Given the description of an element on the screen output the (x, y) to click on. 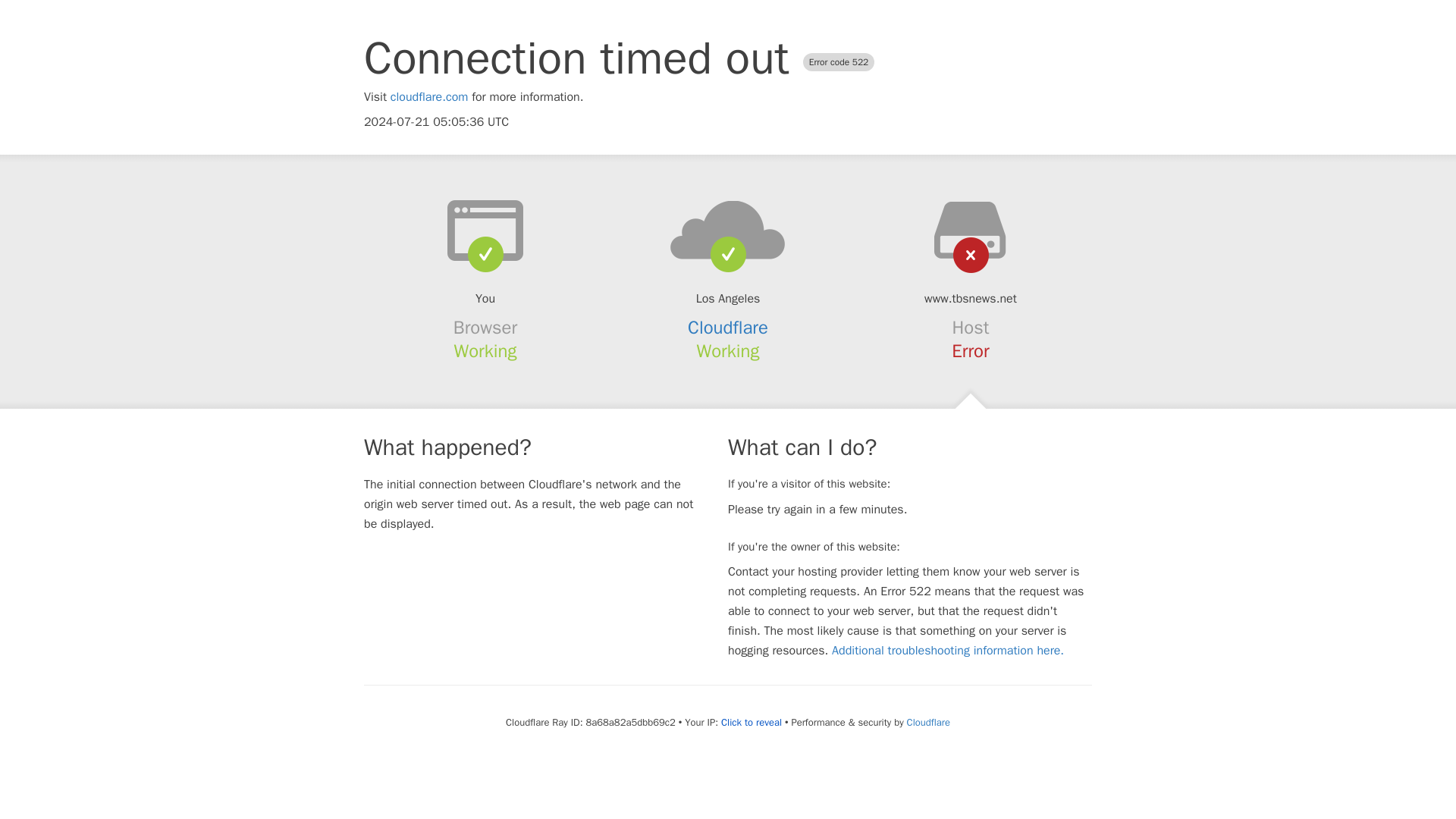
Cloudflare (928, 721)
cloudflare.com (429, 96)
Cloudflare (727, 327)
Click to reveal (750, 722)
Additional troubleshooting information here. (947, 650)
